Given the description of an element on the screen output the (x, y) to click on. 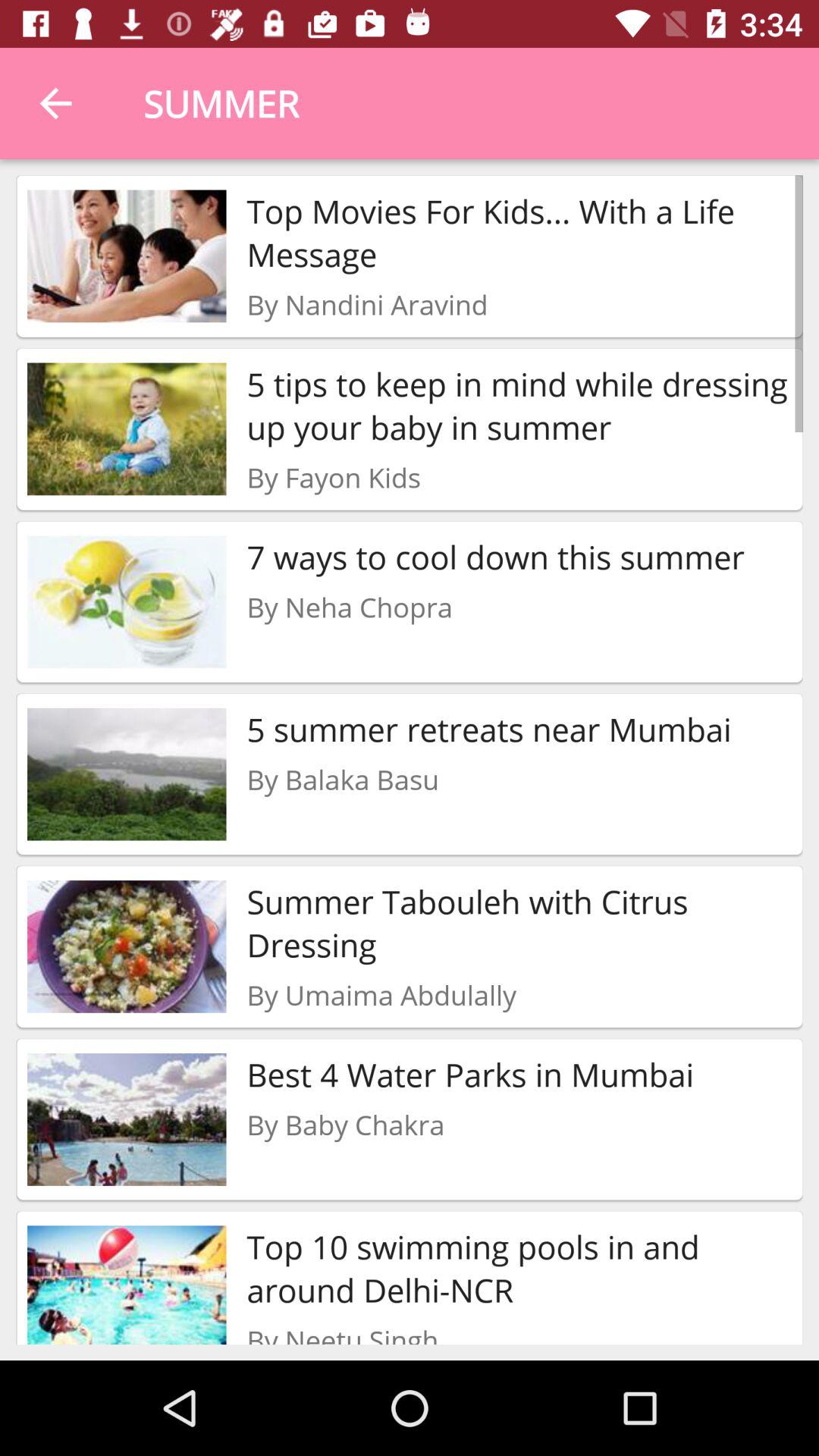
open the icon above best 4 water item (381, 994)
